Given the description of an element on the screen output the (x, y) to click on. 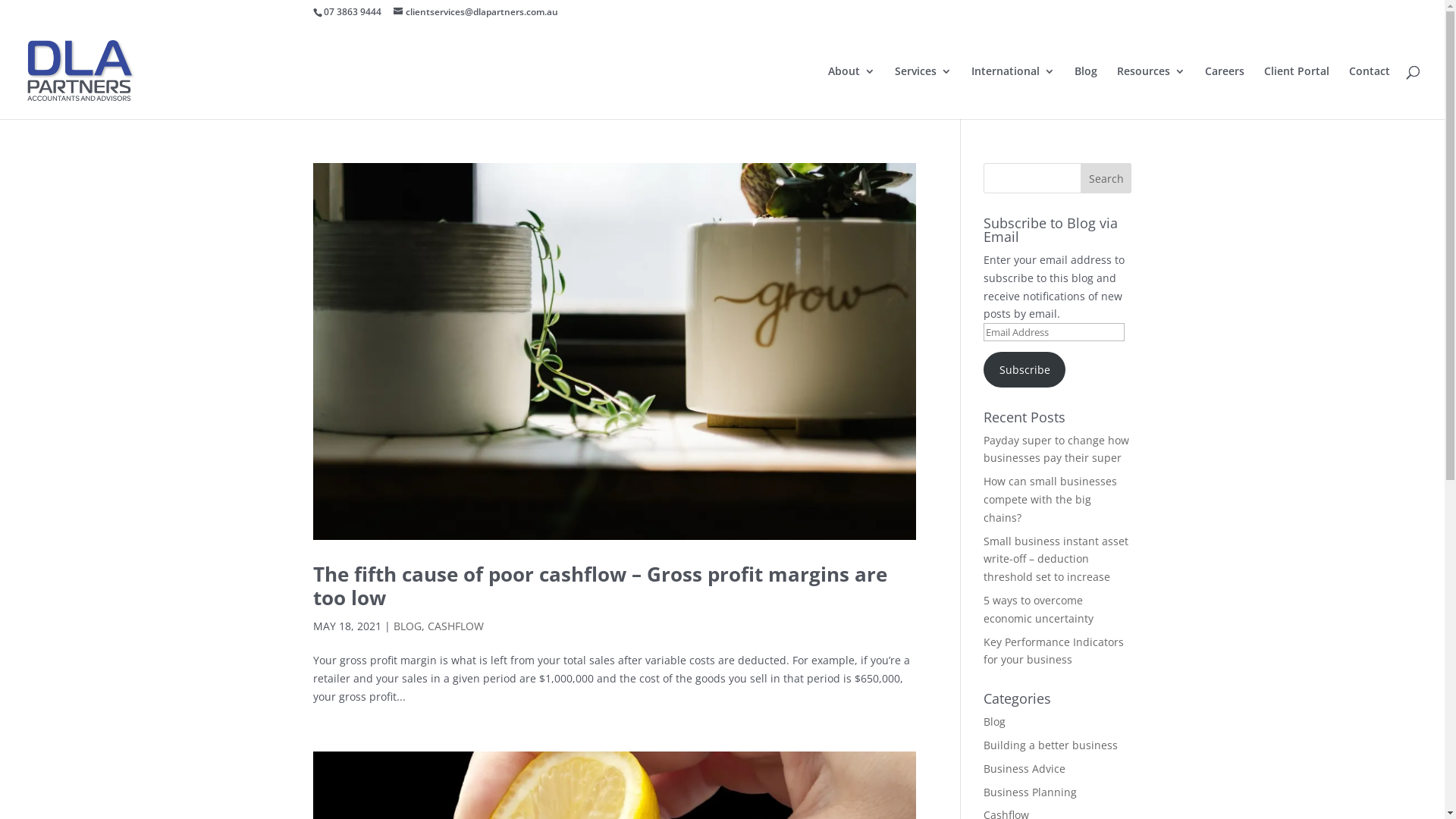
Client Portal Element type: text (1296, 92)
Search Element type: text (1106, 178)
Business Advice Element type: text (1024, 768)
CASHFLOW Element type: text (455, 625)
Careers Element type: text (1224, 92)
Subscribe Element type: text (1024, 368)
How can small businesses compete with the big chains? Element type: text (1050, 498)
Payday super to change how businesses pay their super Element type: text (1056, 449)
Business Planning Element type: text (1029, 791)
About Element type: text (851, 92)
5 ways to overcome economic uncertainty Element type: text (1038, 609)
Building a better business Element type: text (1050, 744)
International Element type: text (1012, 92)
clientservices@dlapartners.com.au Element type: text (474, 11)
Blog Element type: text (994, 721)
Key Performance Indicators for your business Element type: text (1053, 650)
BLOG Element type: text (406, 625)
Services Element type: text (922, 92)
Resources Element type: text (1151, 92)
Contact Element type: text (1369, 92)
Blog Element type: text (1085, 92)
